Given the description of an element on the screen output the (x, y) to click on. 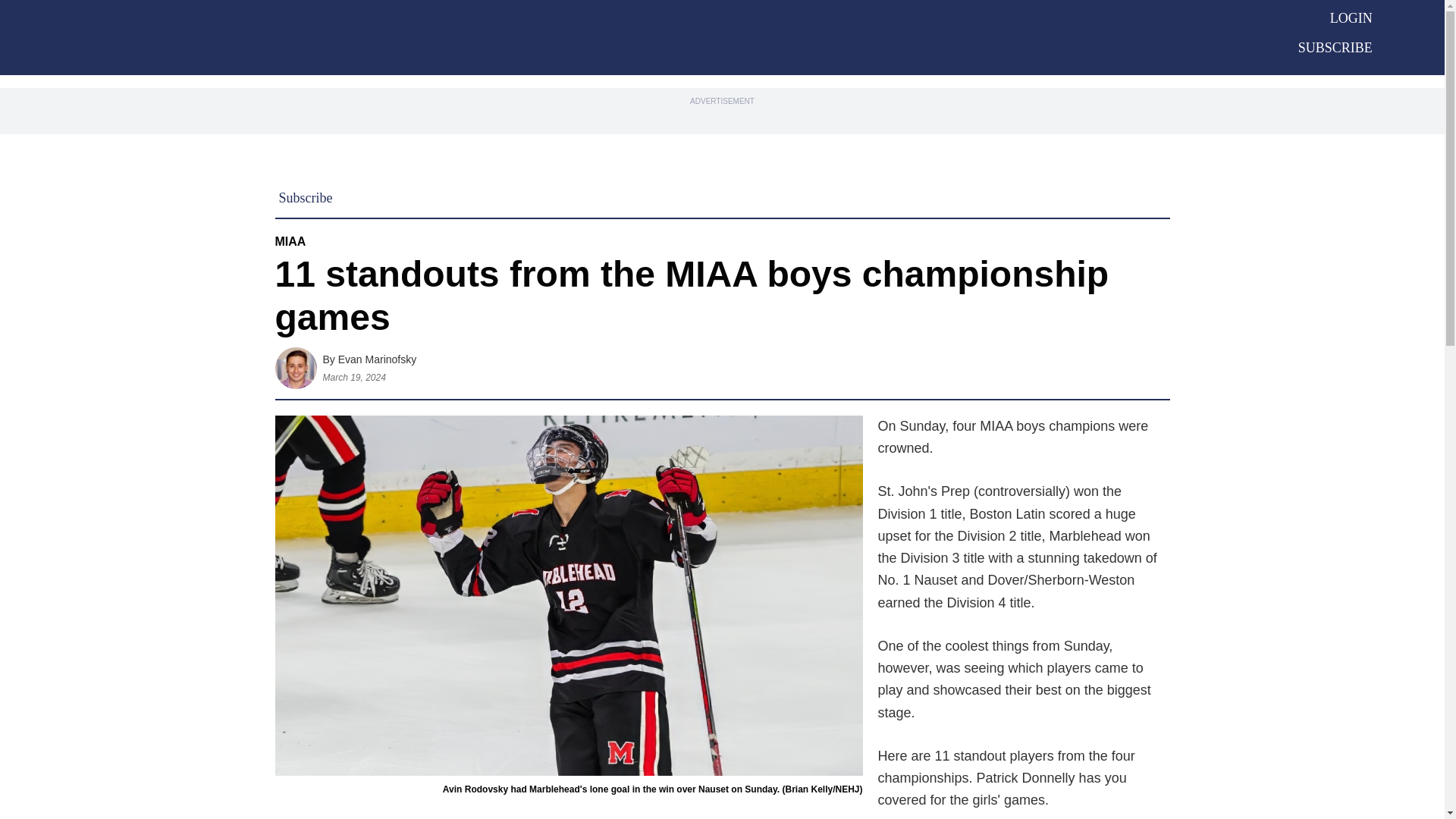
LOGIN (1351, 17)
New England Hockey Journal (676, 37)
MIAA (290, 241)
Evan Marinofsky (376, 358)
SUBSCRIBE (1335, 47)
Subscribe (306, 197)
